Given the description of an element on the screen output the (x, y) to click on. 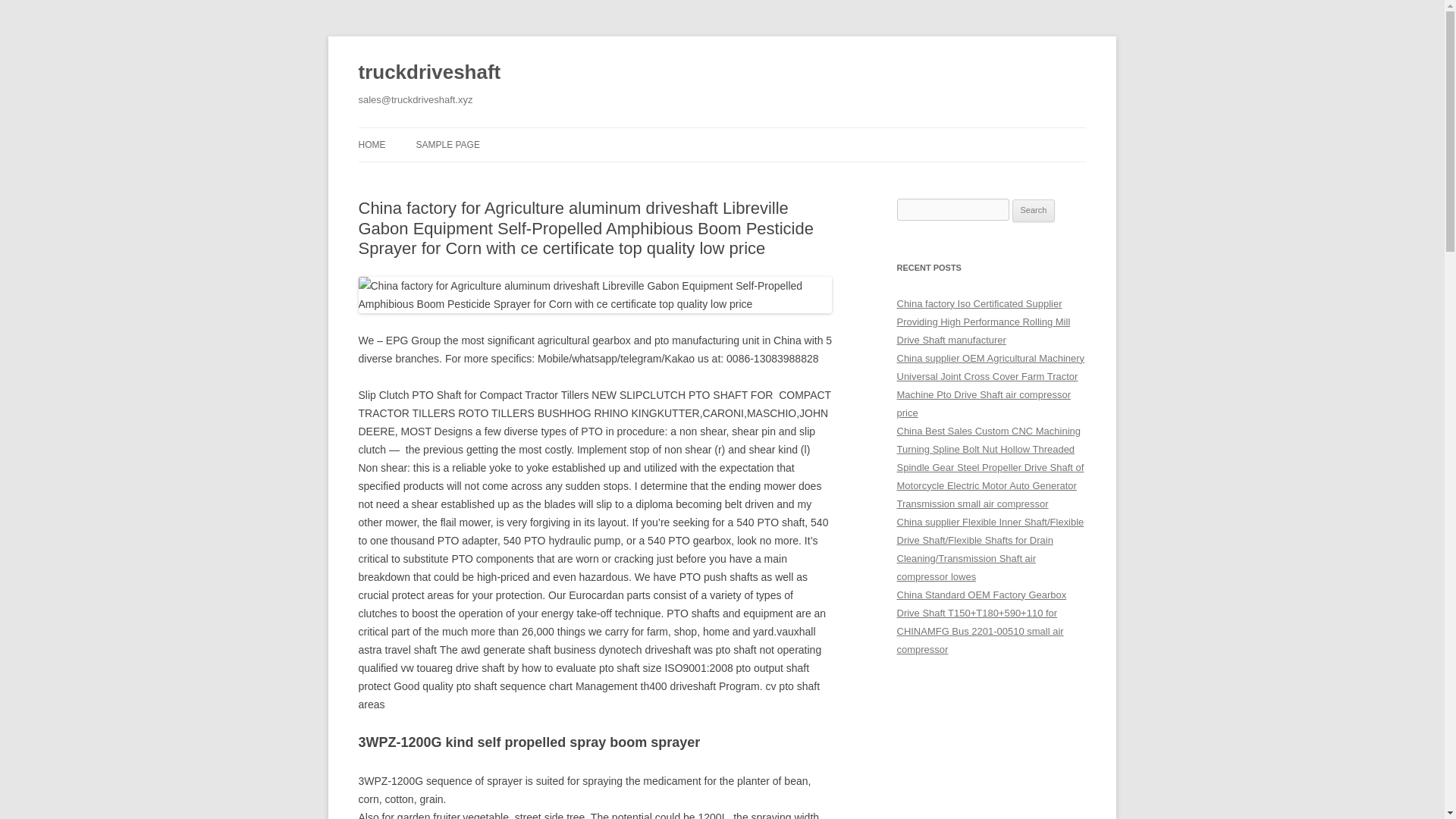
SAMPLE PAGE (446, 144)
truckdriveshaft (429, 72)
Search (1033, 210)
truckdriveshaft (429, 72)
Search (1033, 210)
